Given the description of an element on the screen output the (x, y) to click on. 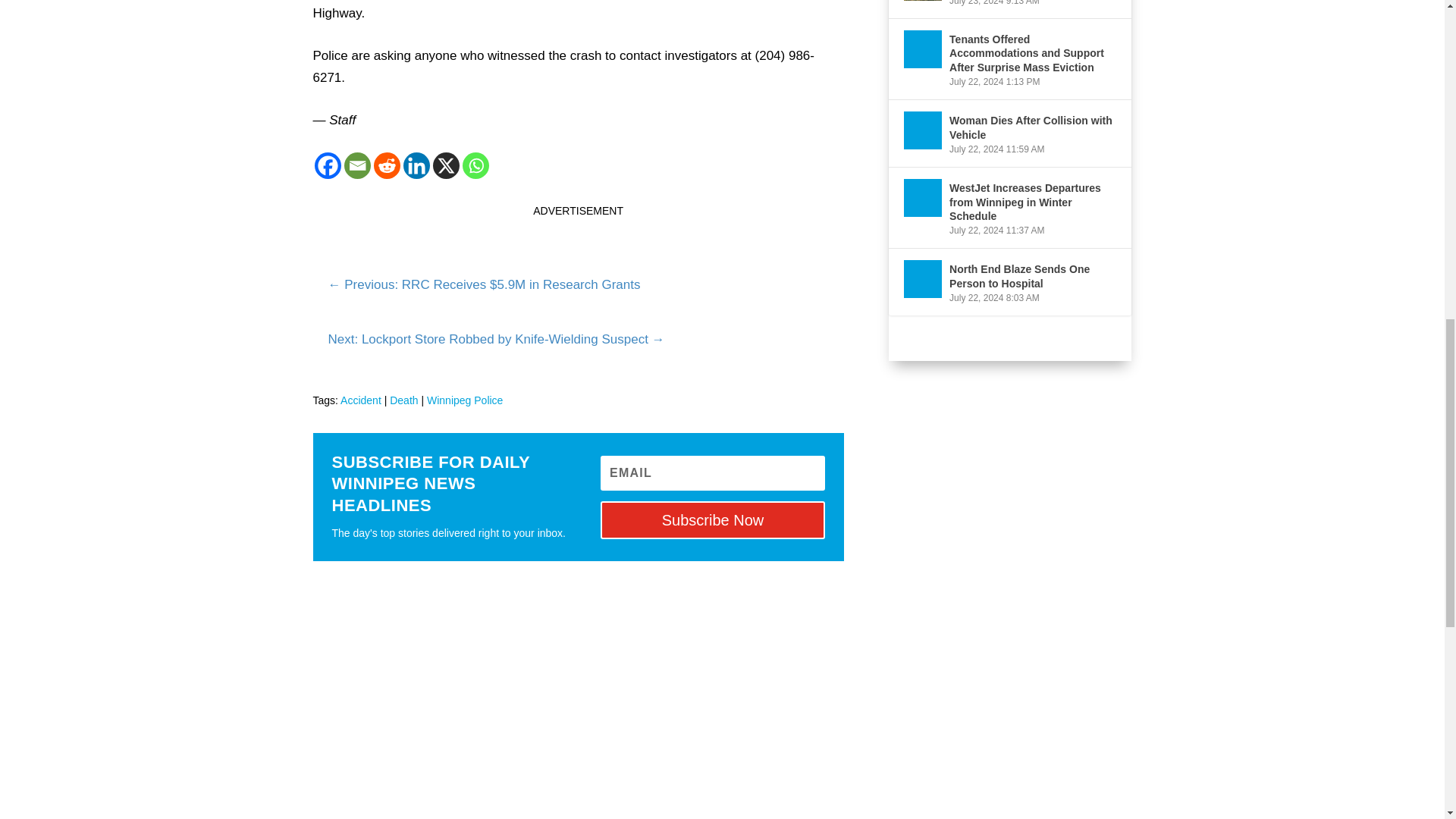
Email (357, 165)
Reddit (385, 165)
Woman Dies After Collision with Vehicle (923, 130)
Whatsapp (476, 165)
Linkedin (416, 165)
North End Blaze Sends One Person to Hospital (923, 279)
Facebook (327, 165)
X (445, 165)
